Given the description of an element on the screen output the (x, y) to click on. 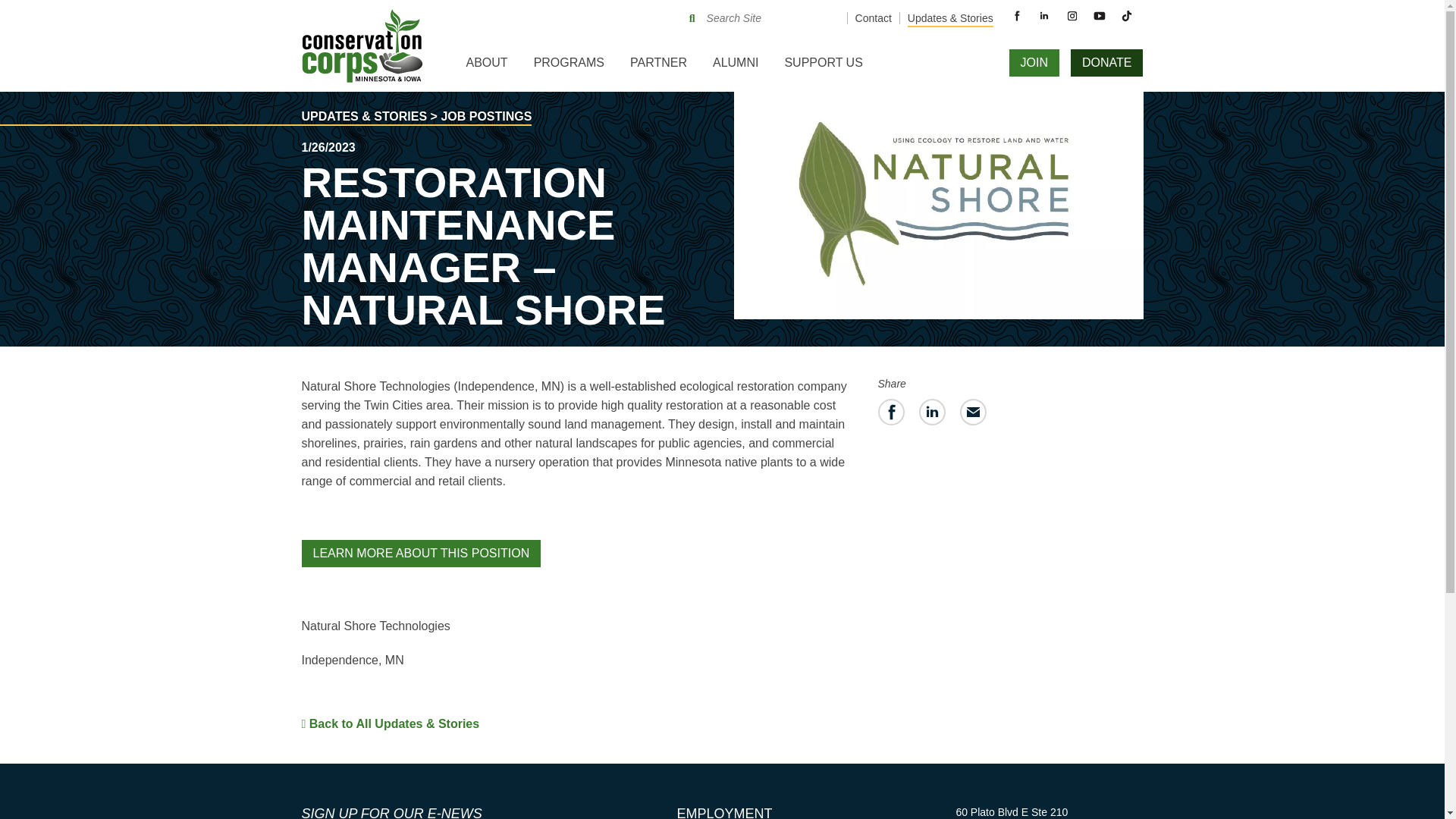
Impact (494, 119)
Instagram (1072, 15)
PARTNER (658, 68)
LinkedIn (1043, 15)
Facebook (1017, 15)
TikTok (1126, 15)
ALUMNI (735, 68)
Contact (873, 18)
SUPPORT US (822, 68)
ABOUT (486, 68)
